Given the description of an element on the screen output the (x, y) to click on. 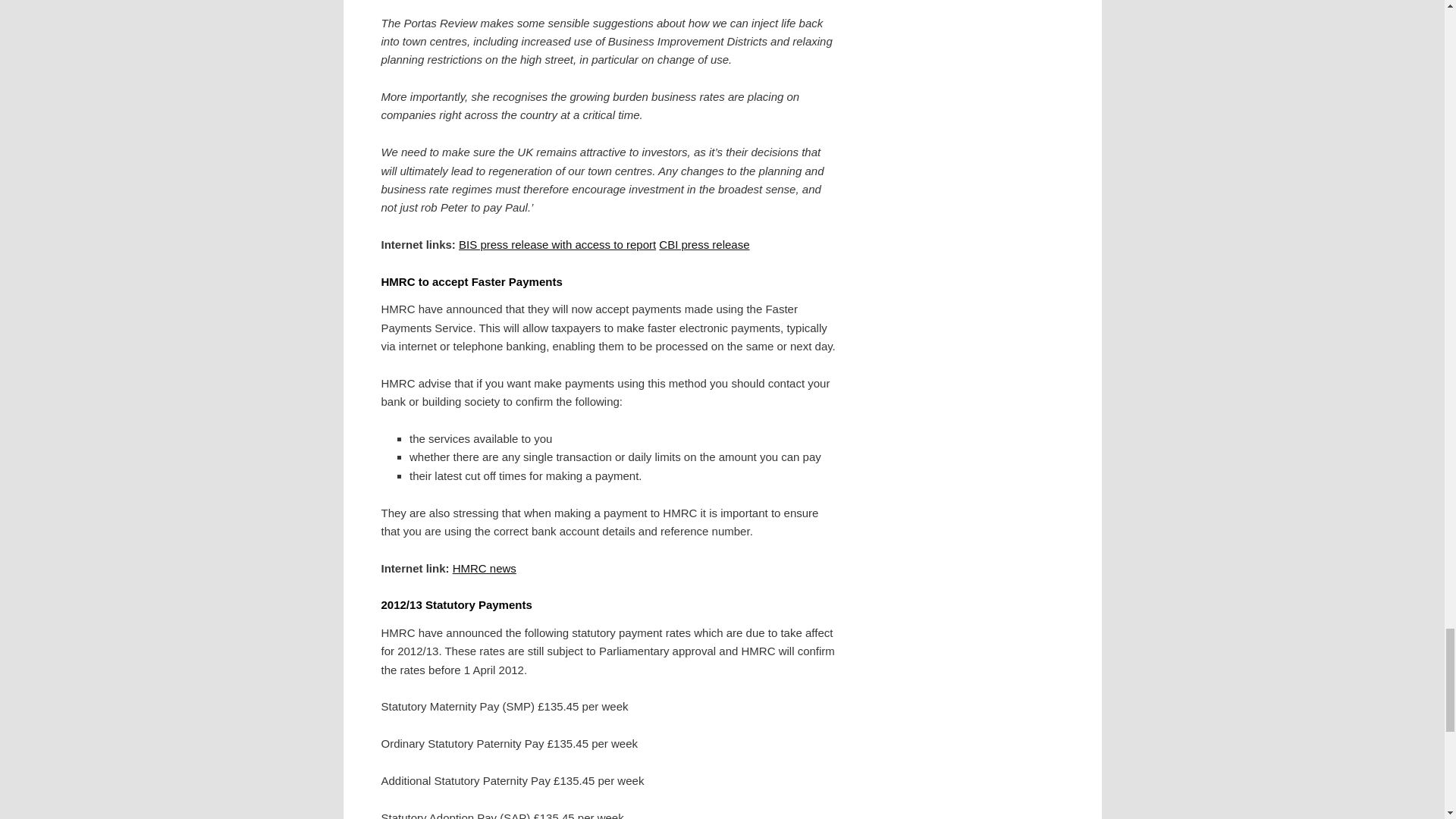
BIS press release with access to report (557, 244)
CBI press release (704, 244)
